Given the description of an element on the screen output the (x, y) to click on. 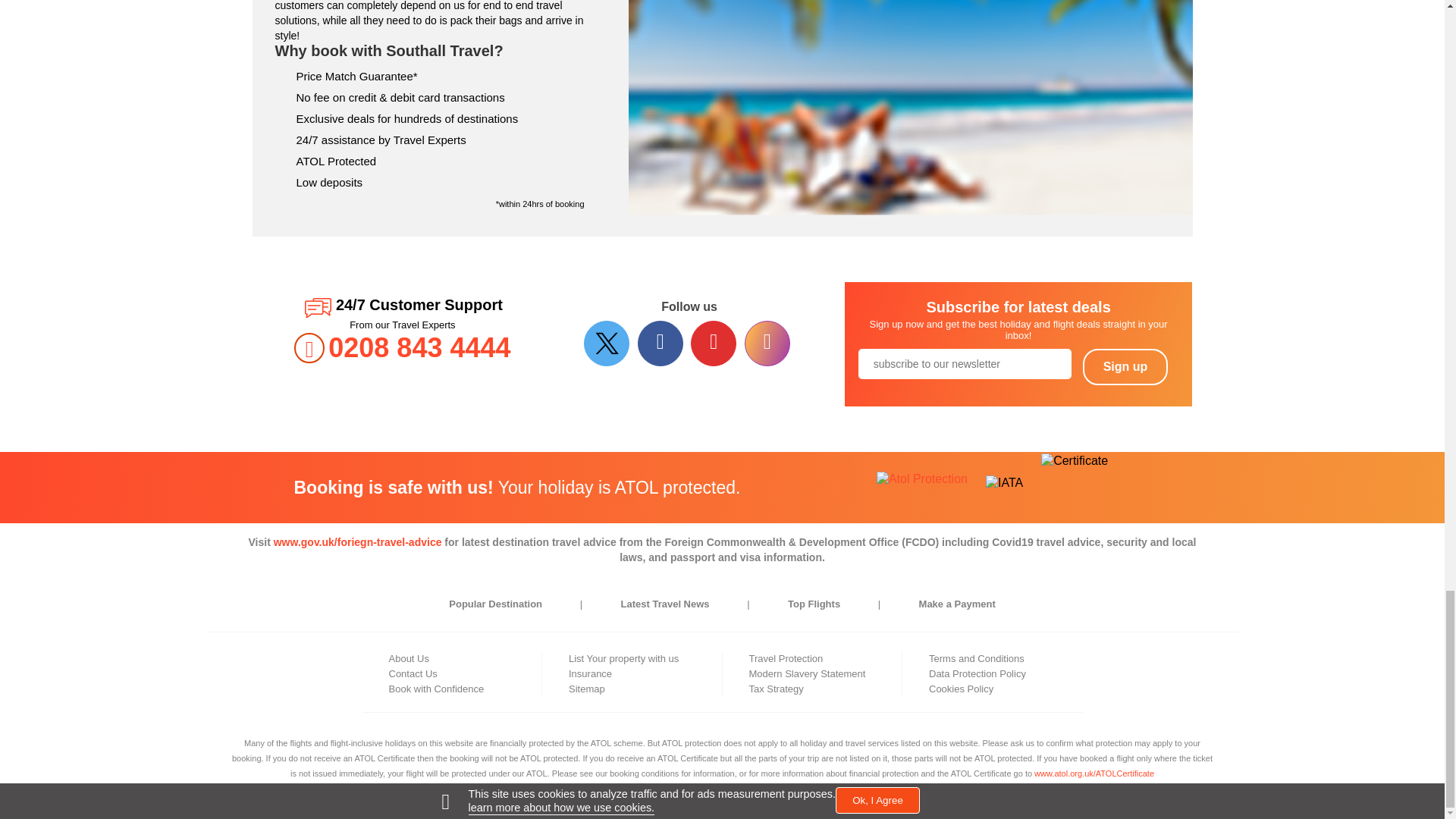
twitter (608, 343)
facebook (662, 343)
Why our customers love us (909, 116)
Sign up (1126, 366)
